Given the description of an element on the screen output the (x, y) to click on. 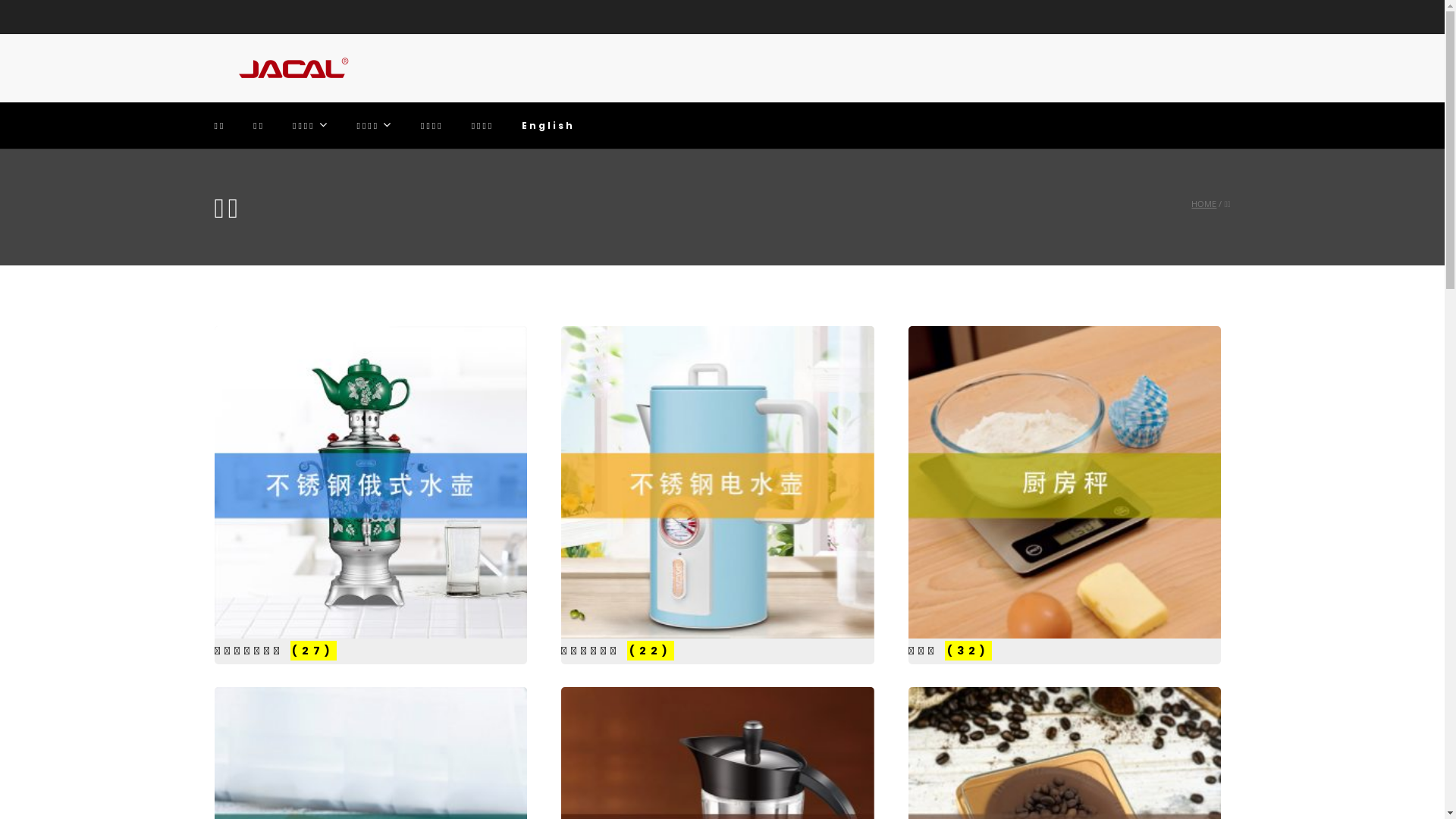
English Element type: text (546, 125)
JACAL Element type: hover (289, 67)
HOME Element type: text (1203, 203)
